Given the description of an element on the screen output the (x, y) to click on. 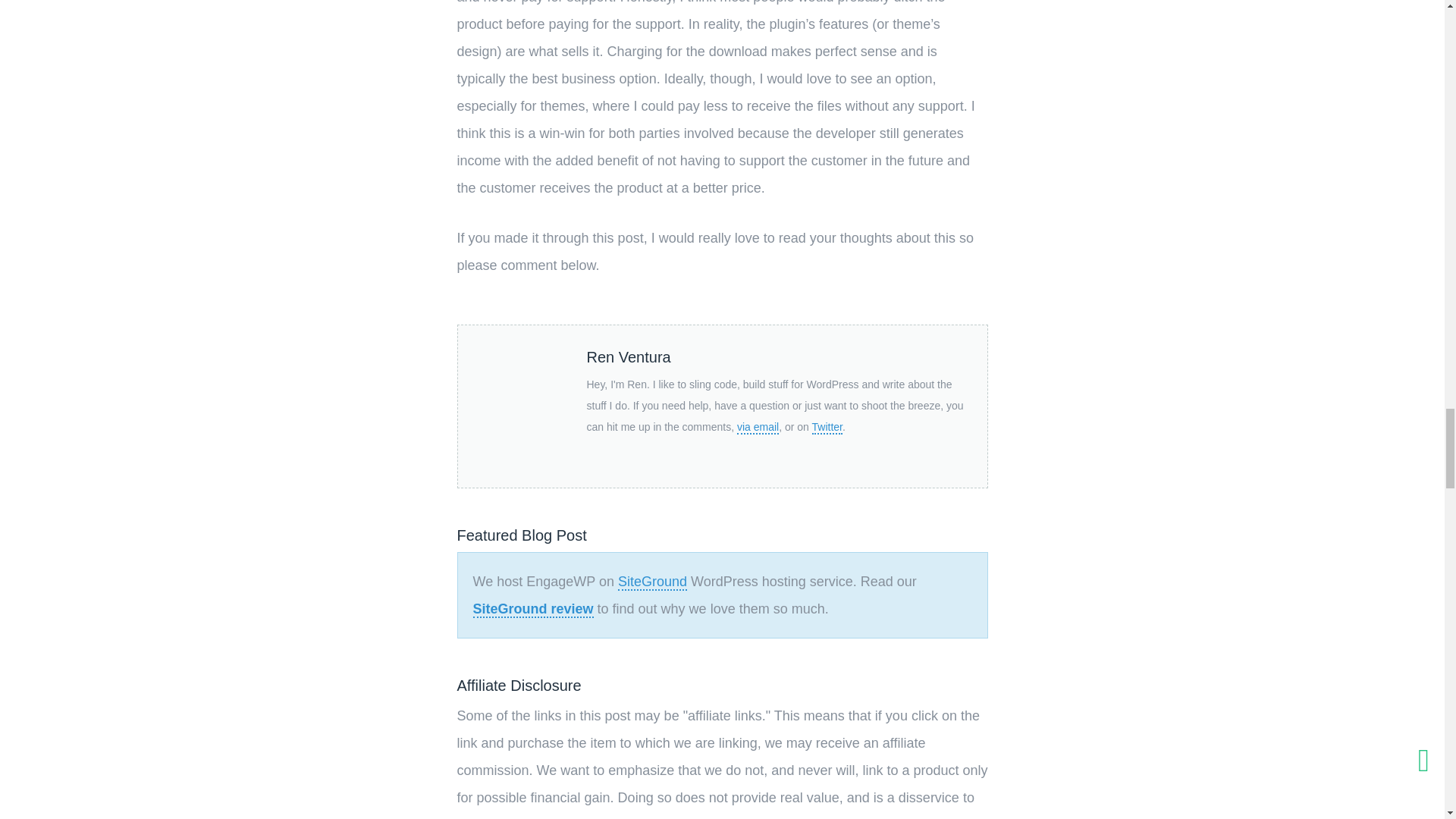
SiteGround (652, 582)
via email (757, 427)
SiteGround review (533, 609)
Twitter (827, 427)
